Given the description of an element on the screen output the (x, y) to click on. 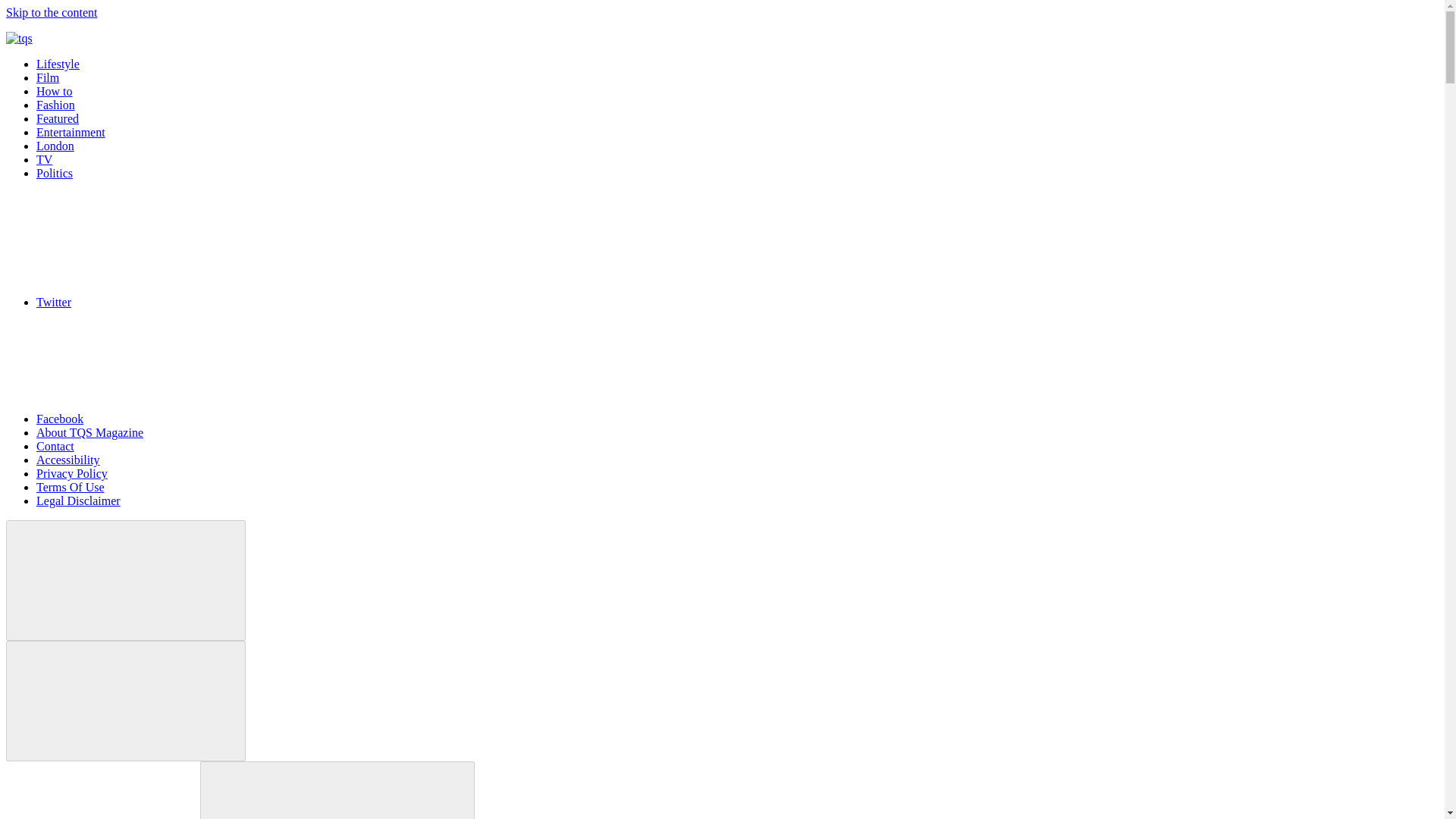
London (55, 145)
Facebook (173, 418)
How to (54, 91)
About TQS Magazine (89, 431)
Politics (54, 173)
Twitter (167, 301)
Privacy Policy (71, 472)
Accessibility (68, 459)
Search (337, 790)
Lifestyle (58, 63)
